Given the description of an element on the screen output the (x, y) to click on. 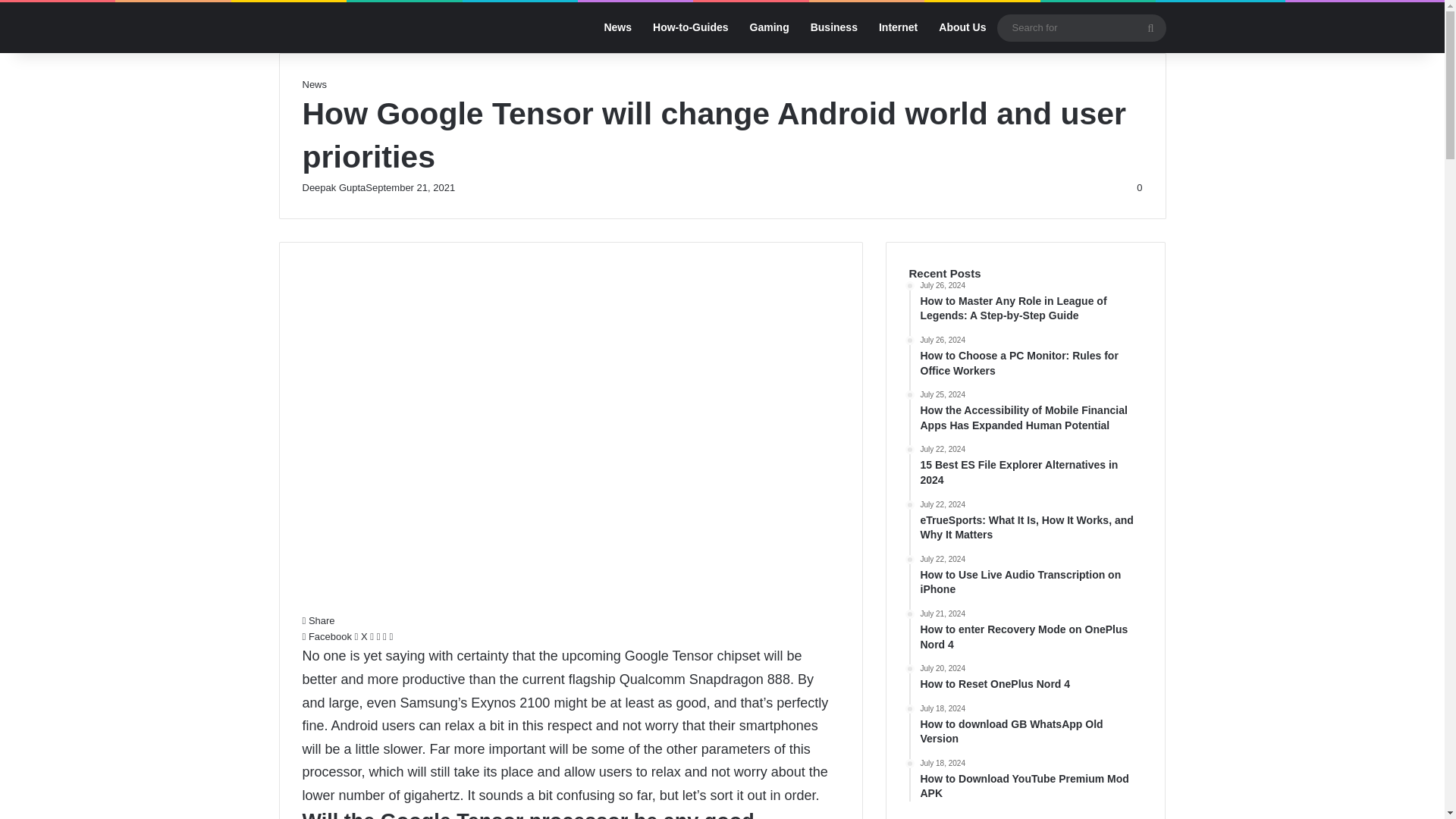
News (617, 27)
Facebook (327, 636)
News (313, 84)
Gaming (769, 27)
Deepak Gupta (333, 187)
How-to-Guides (690, 27)
Facebook (327, 636)
Search for (1080, 26)
X (363, 636)
Business (833, 27)
Deepak Gupta (333, 187)
Internet (897, 27)
About Us (961, 27)
X (363, 636)
Search for (1150, 26)
